Given the description of an element on the screen output the (x, y) to click on. 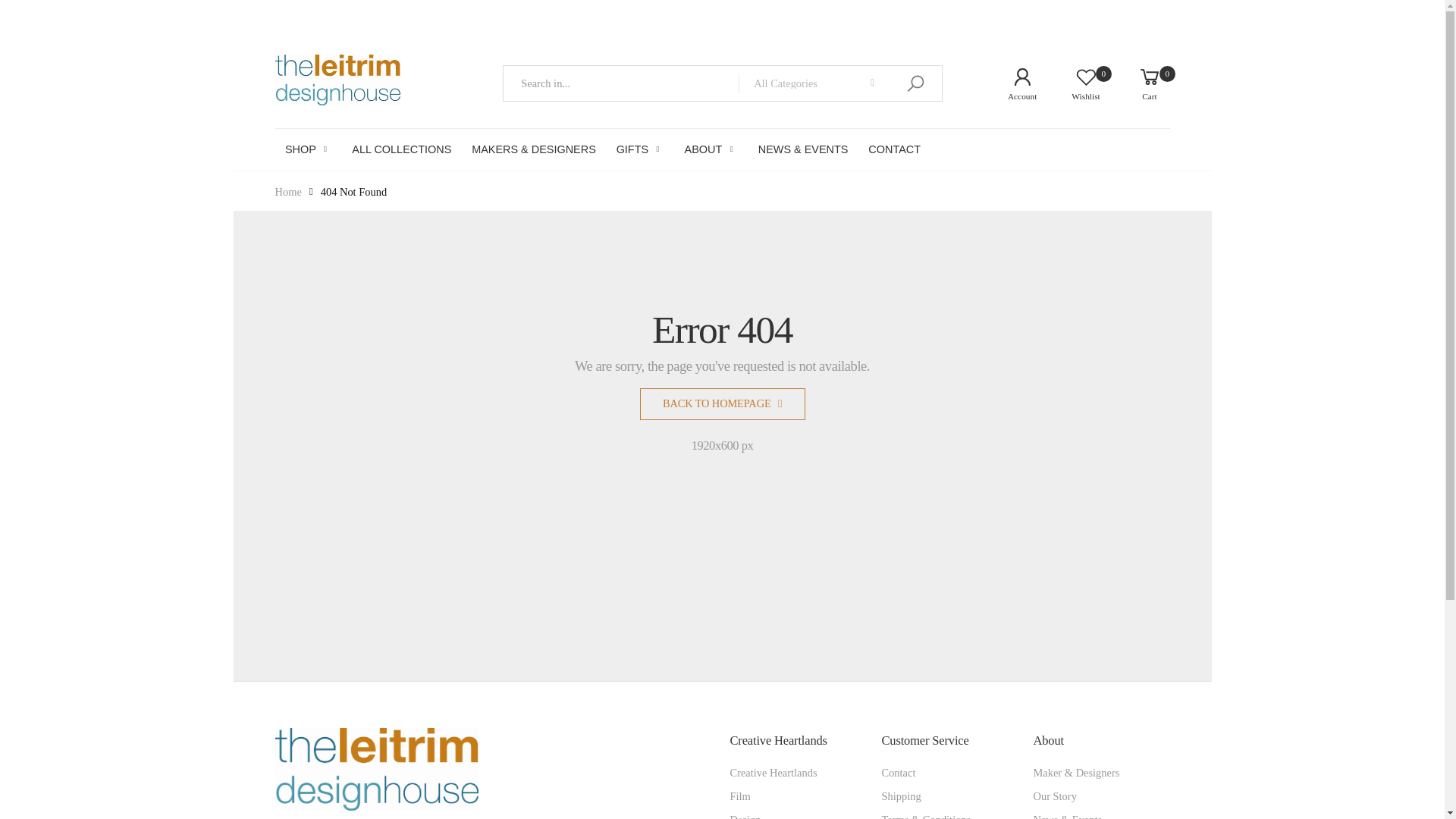
GIFTS (639, 149)
ALL COLLECTIONS (401, 149)
Home (1138, 82)
Account (288, 191)
SHOP (1010, 82)
